Given the description of an element on the screen output the (x, y) to click on. 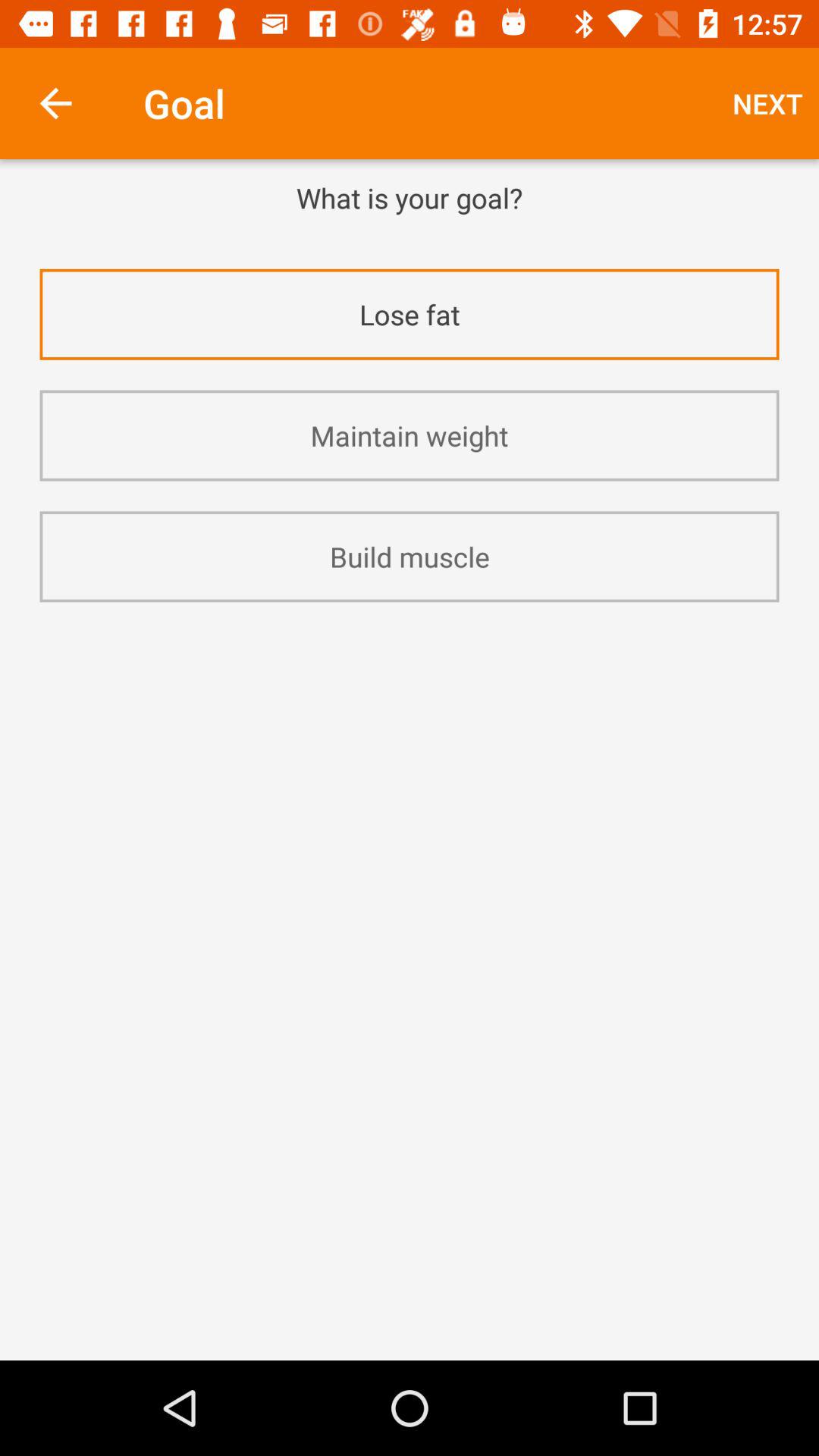
select icon above what is your item (55, 103)
